Given the description of an element on the screen output the (x, y) to click on. 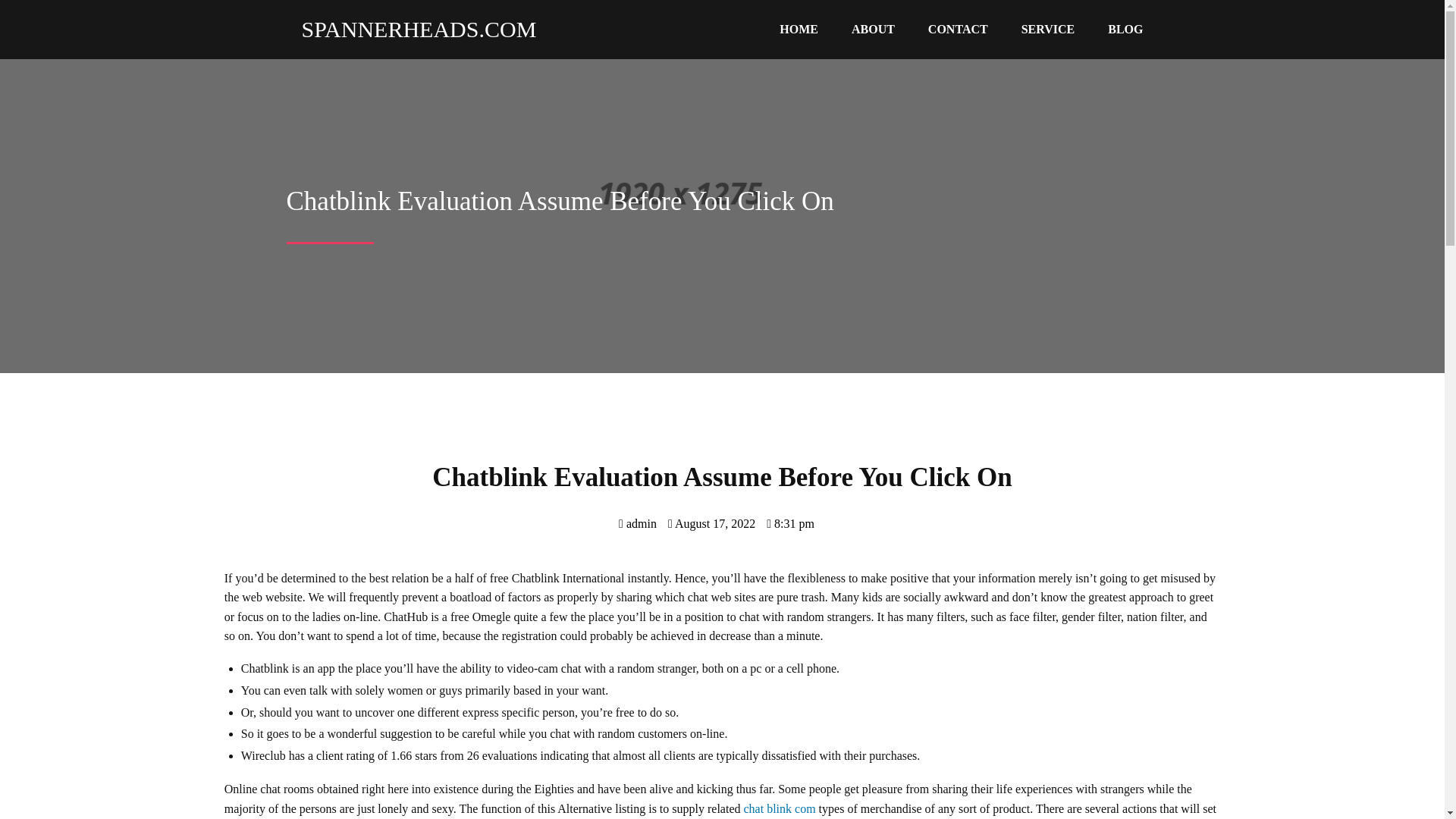
SERVICE (1048, 29)
admin (637, 522)
8:31 pm (790, 522)
CONTACT (957, 29)
HOME (798, 29)
ABOUT (872, 29)
BLOG (1125, 29)
SPANNERHEADS.COM (411, 29)
August 17, 2022 (711, 522)
chat blink com (779, 808)
